Given the description of an element on the screen output the (x, y) to click on. 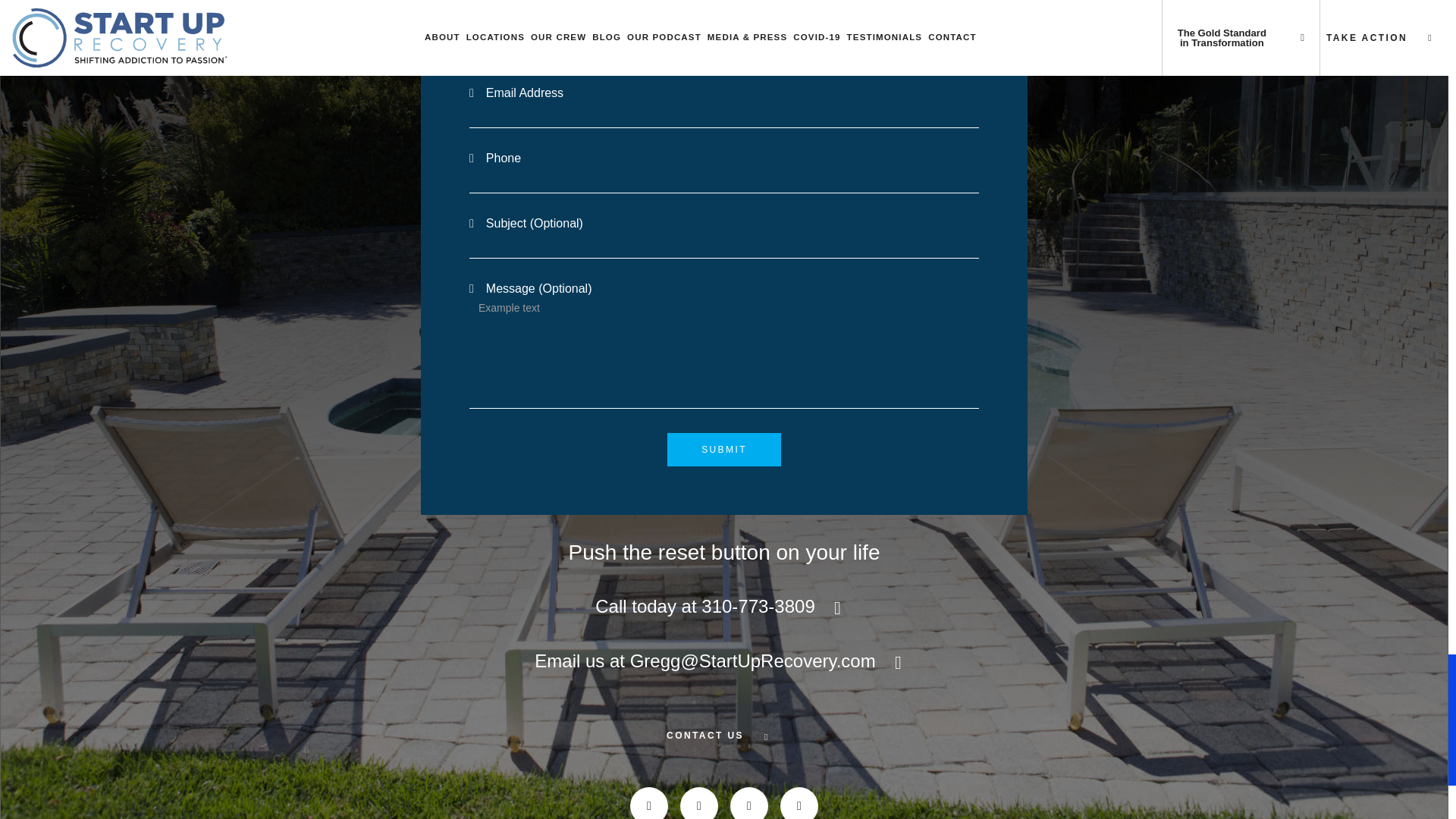
Submit (723, 449)
